Given the description of an element on the screen output the (x, y) to click on. 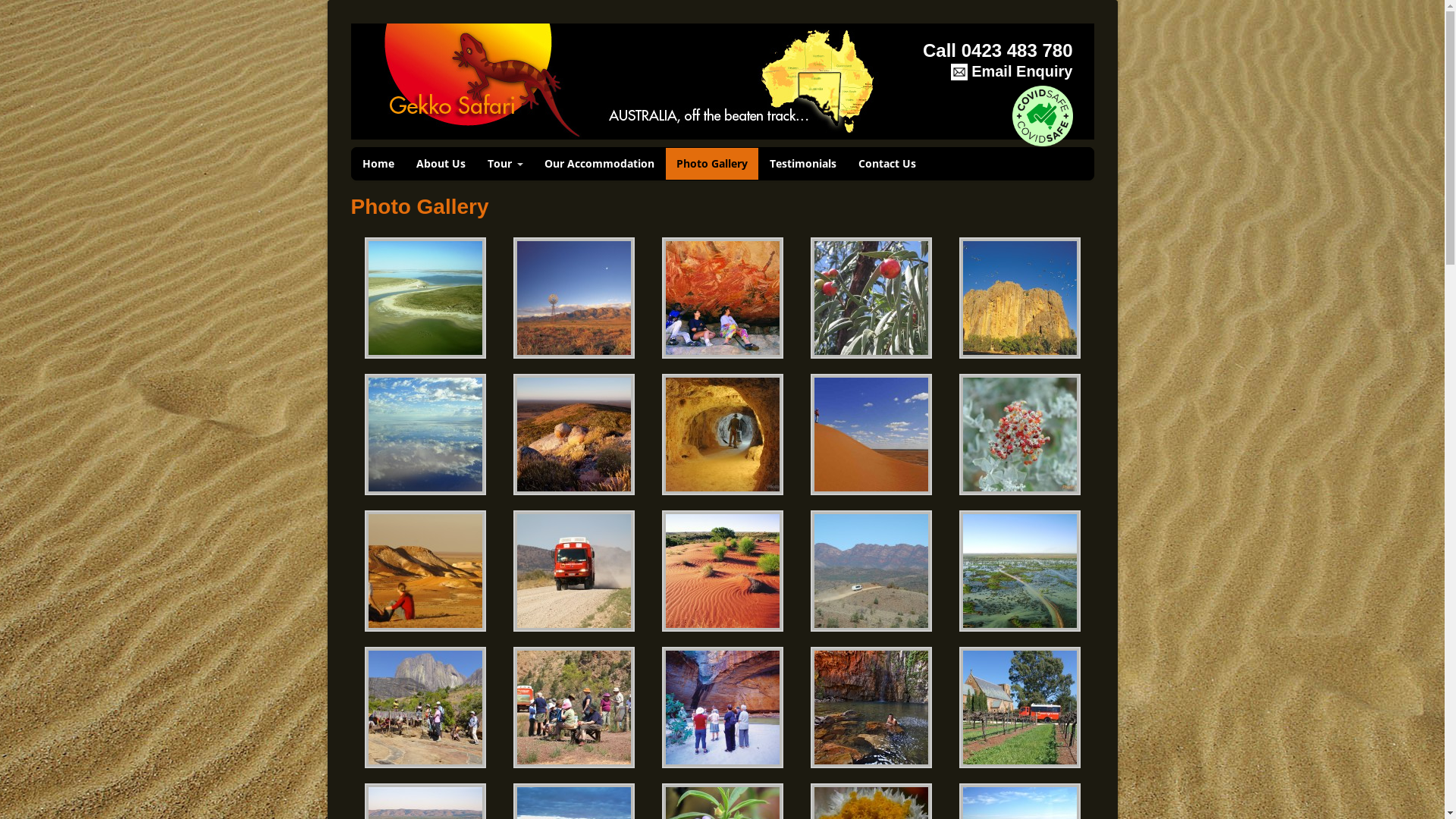
About Us Element type: text (439, 163)
Email Enquiry Element type: text (977, 78)
Tour Element type: text (504, 163)
Testimonials Element type: text (802, 163)
Home Element type: text (377, 163)
Contact Us Element type: text (886, 163)
Our Accommodation Element type: text (599, 163)
Photo Gallery Element type: text (711, 163)
